Given the description of an element on the screen output the (x, y) to click on. 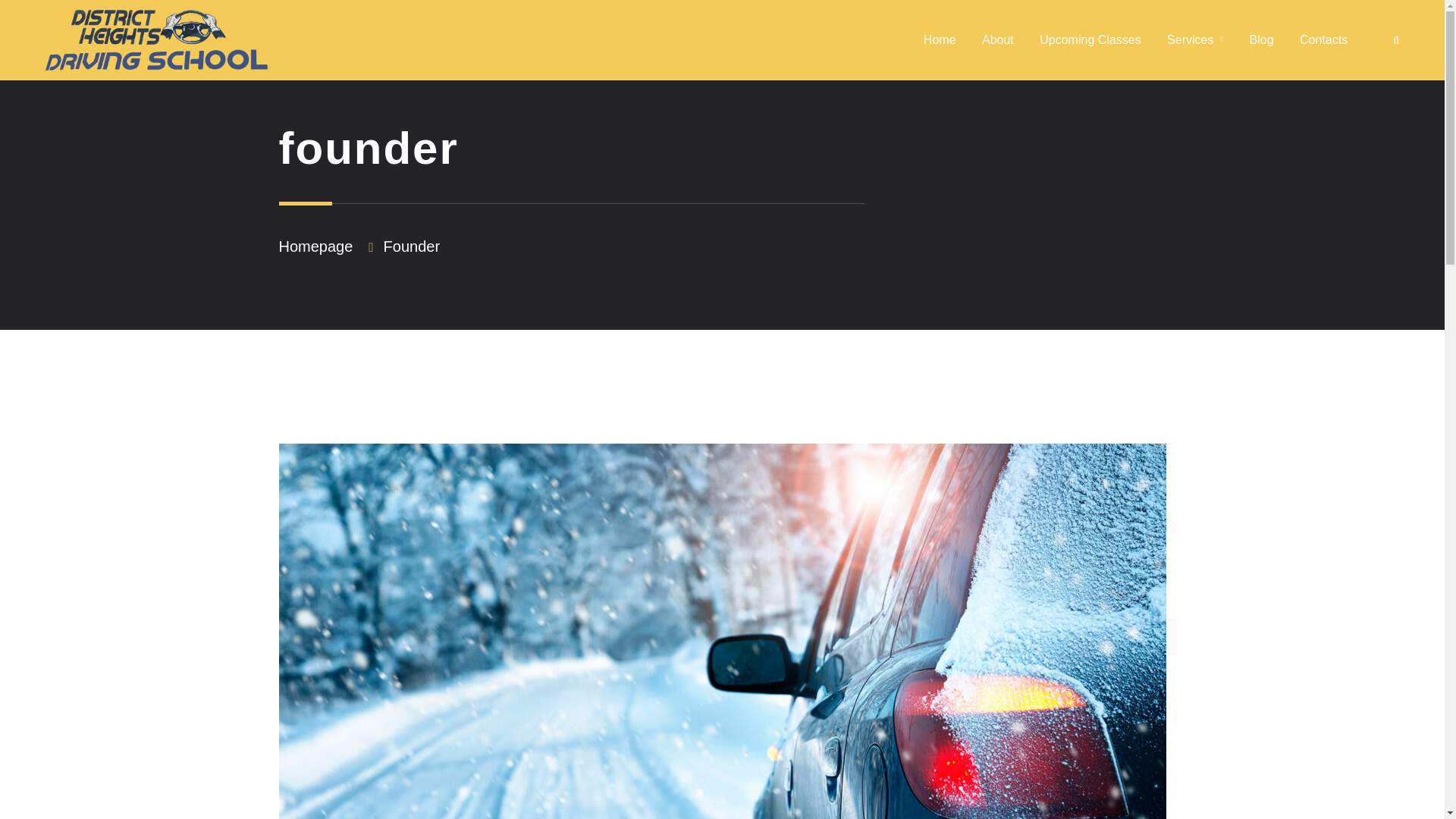
Homepage (316, 246)
Services (1195, 40)
Home (939, 40)
About (997, 40)
Blog (1261, 40)
Upcoming Classes (1089, 40)
Contacts (1324, 40)
